Given the description of an element on the screen output the (x, y) to click on. 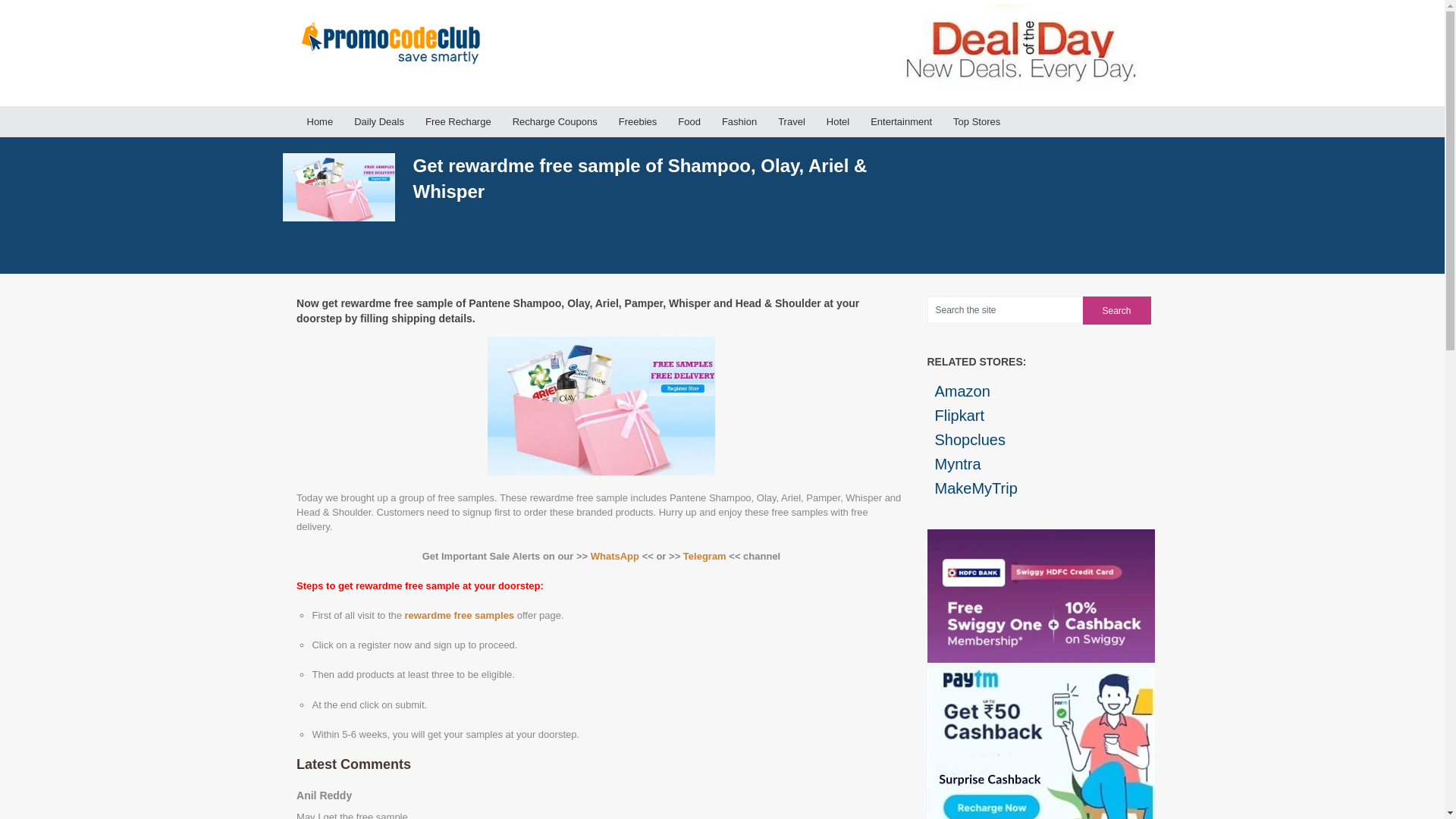
Search the site (1003, 309)
Amazon (1038, 391)
Freebies (638, 121)
Recharge Coupons (555, 121)
Search (1117, 310)
Search (1117, 310)
WhatsApp (615, 555)
Flipkart (1038, 415)
Daily Deals (378, 121)
Entertainment (901, 121)
Free Recharge (458, 121)
Shopclues (1038, 439)
Fashion (739, 121)
Myntra (1038, 463)
Telegram (704, 555)
